Given the description of an element on the screen output the (x, y) to click on. 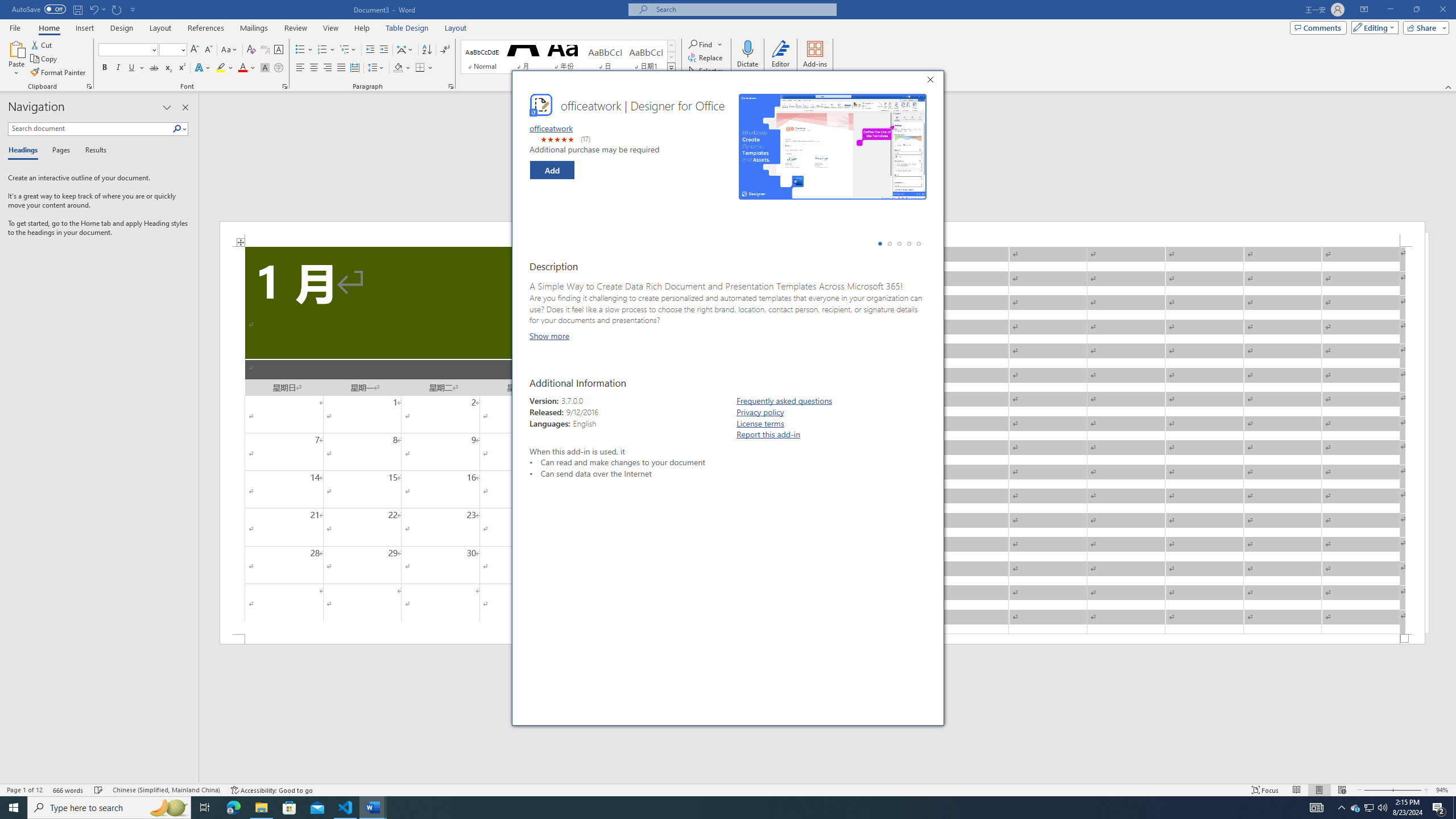
Join our Linkedin Community! (742, 553)
